Given the description of an element on the screen output the (x, y) to click on. 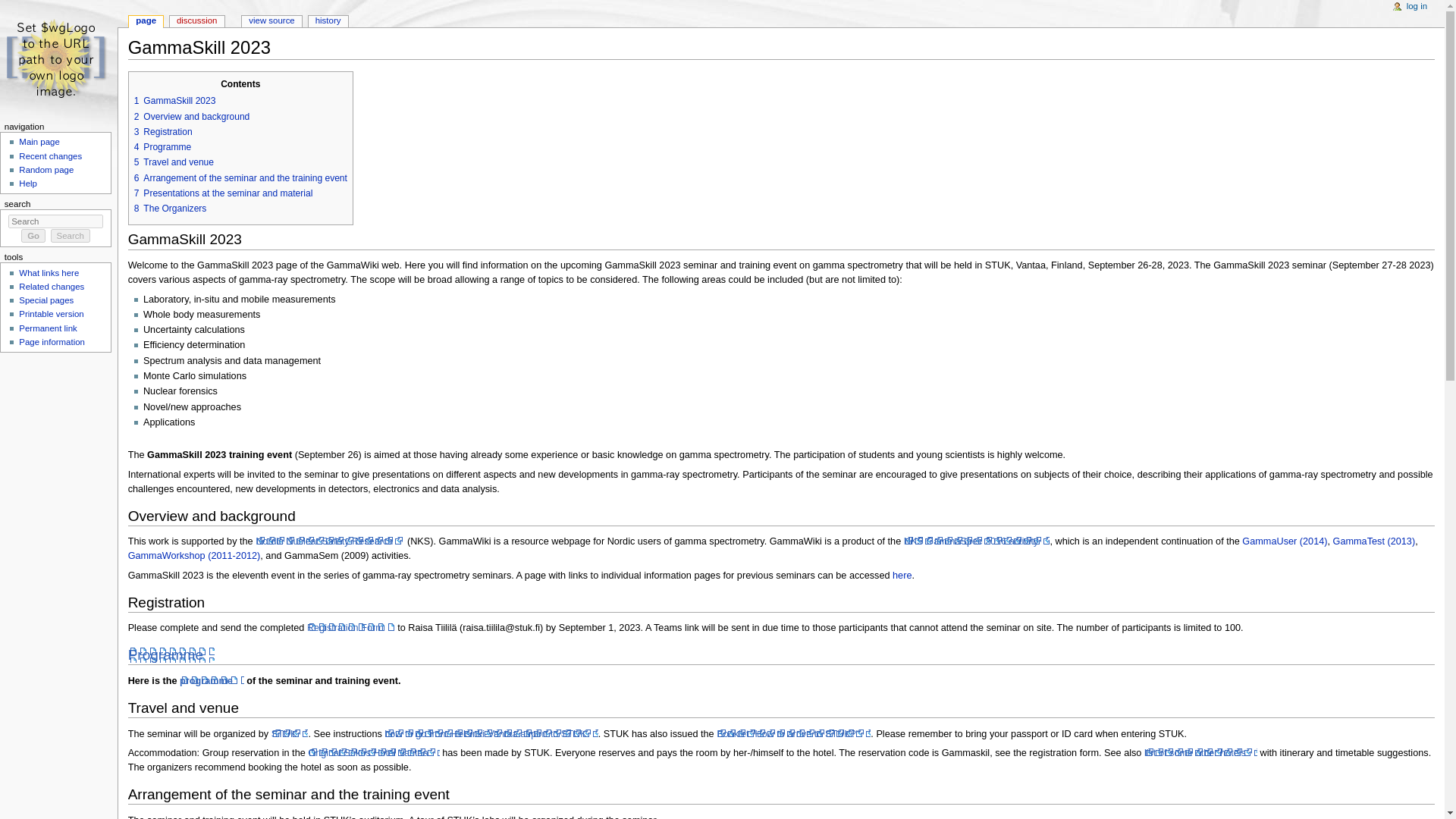
Nordic Nuclear Safety Research (330, 541)
here (901, 575)
Go to a page with this exact name if it exists (33, 235)
8 The Organizers (169, 208)
Go (33, 235)
Registration Form (350, 627)
Search (70, 235)
programme (211, 680)
Gw2011 programme (194, 555)
NKS GammaSpec 2016 activity (976, 541)
